Given the description of an element on the screen output the (x, y) to click on. 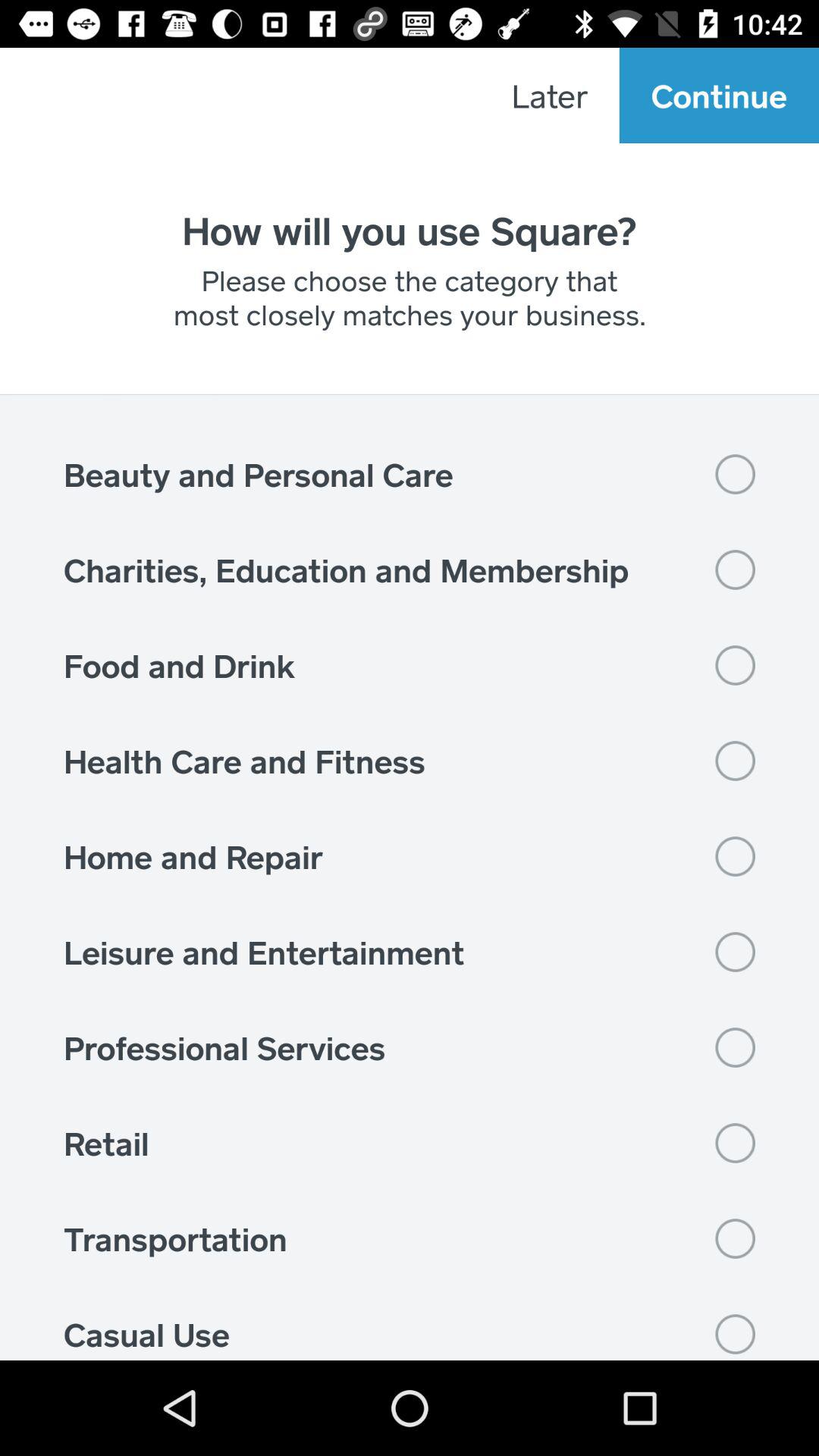
scroll until the leisure and entertainment icon (409, 951)
